Given the description of an element on the screen output the (x, y) to click on. 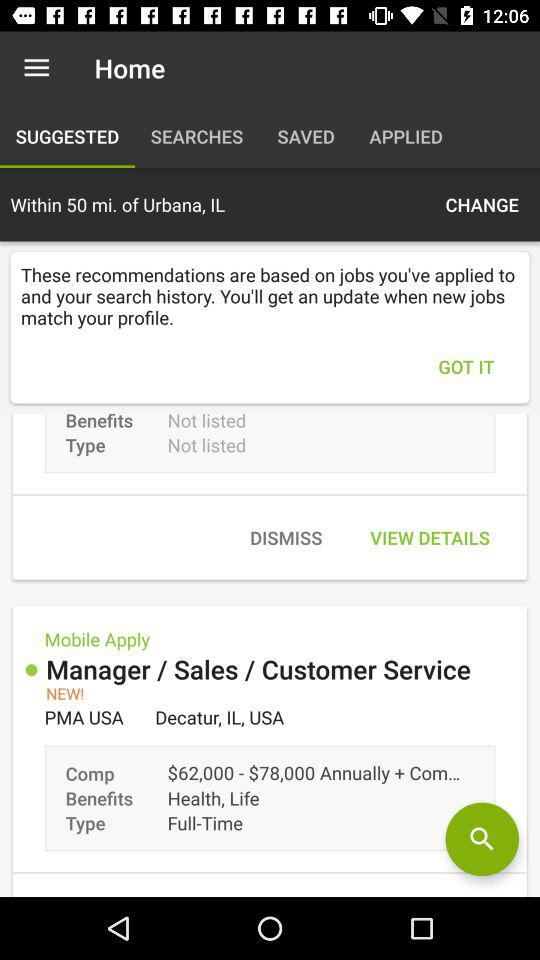
flip until the apply now icon (439, 890)
